Given the description of an element on the screen output the (x, y) to click on. 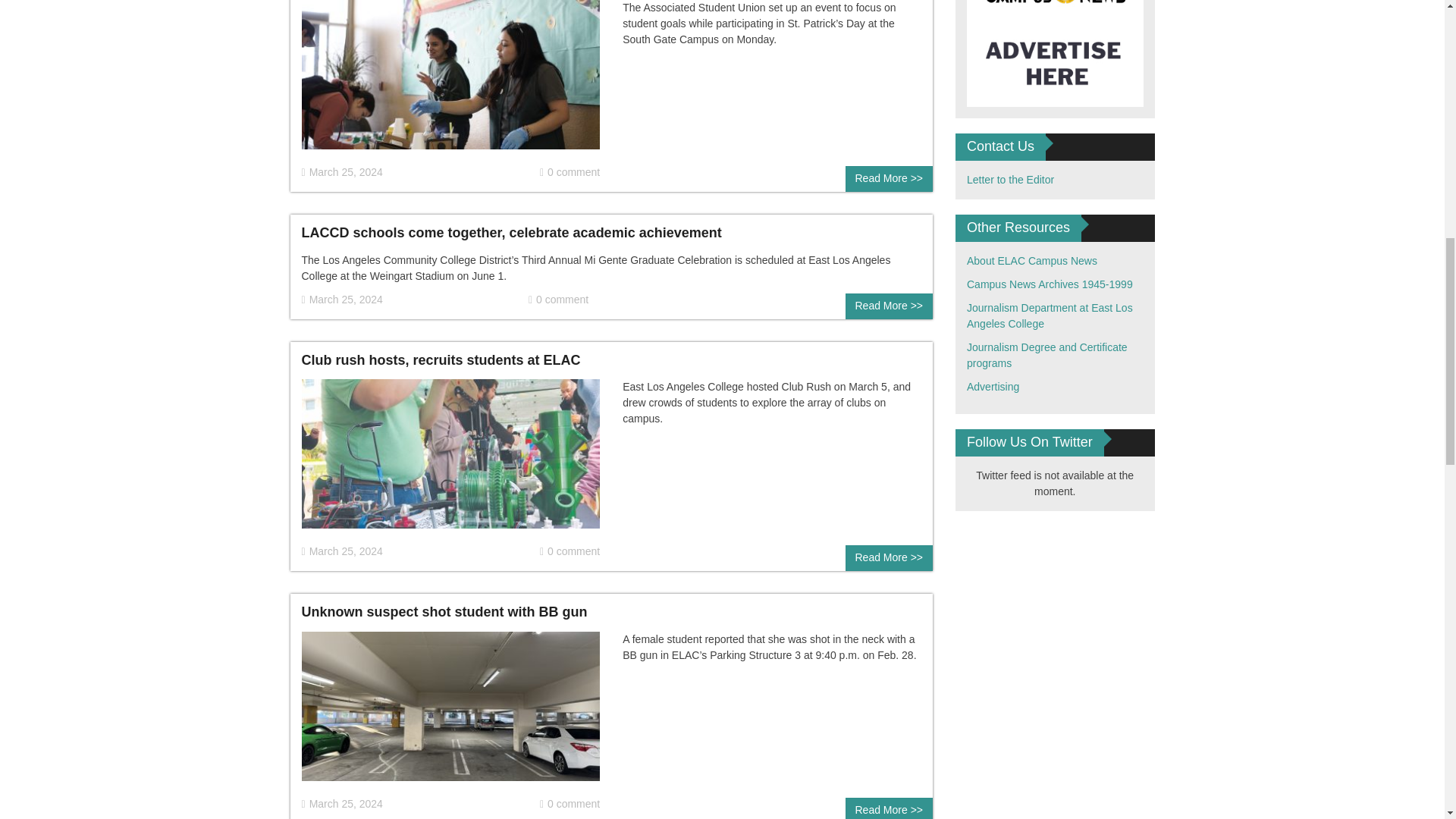
Club rush hosts, recruits students at ELAC (450, 460)
0 comment (558, 299)
ELAC students set goals at South Gate campus event (450, 80)
Club rush hosts, recruits students at ELAC (440, 359)
0 comment (569, 172)
LACCD schools come together, celebrate academic achievement (511, 232)
Unknown suspect shot student with BB gun (450, 712)
